Given the description of an element on the screen output the (x, y) to click on. 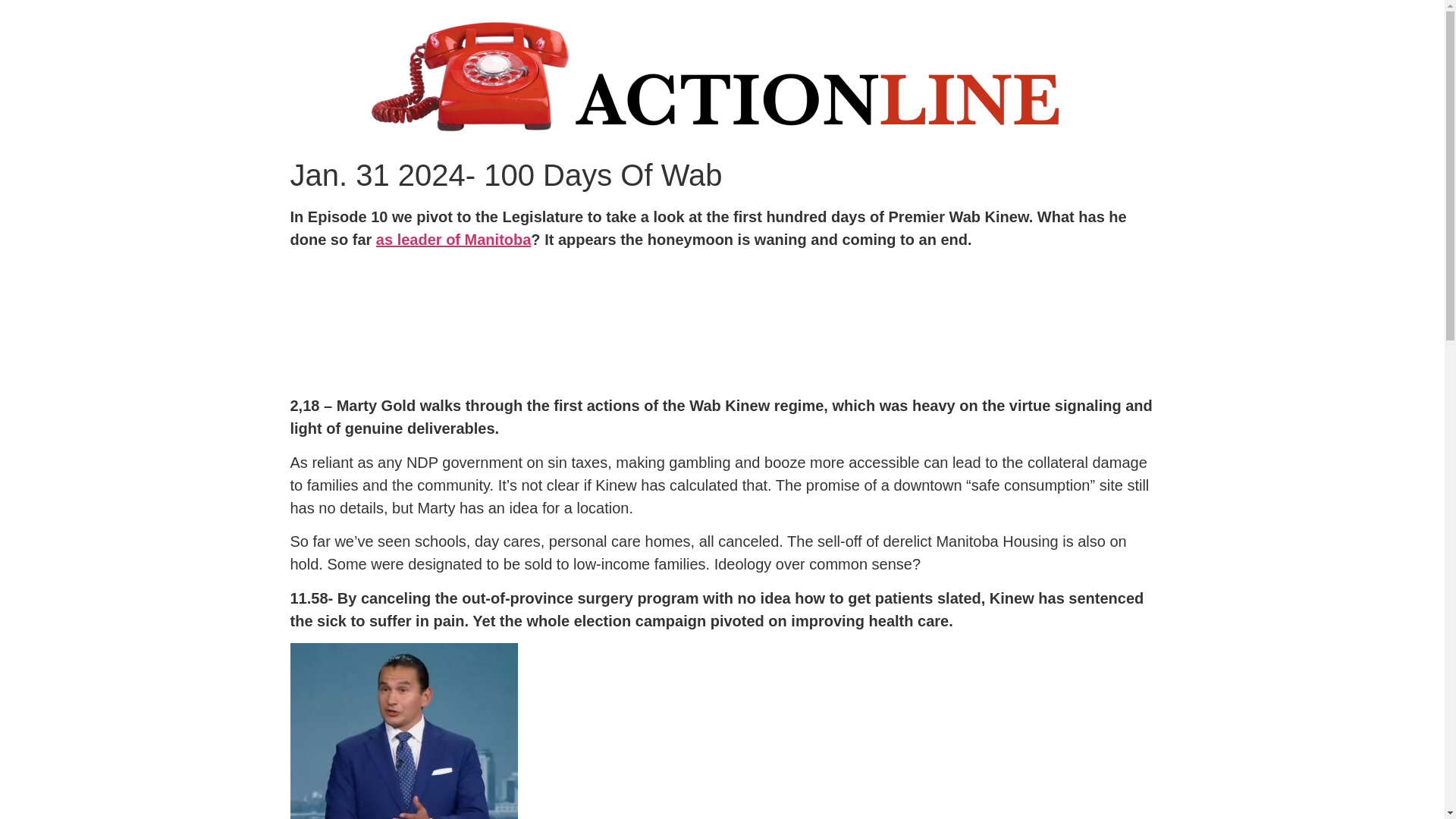
as leader of Manitoba (453, 239)
actionline-logo001 (721, 75)
Spotify Embed: Jan. 31 2024- 100 Days Of Wab (721, 318)
